Given the description of an element on the screen output the (x, y) to click on. 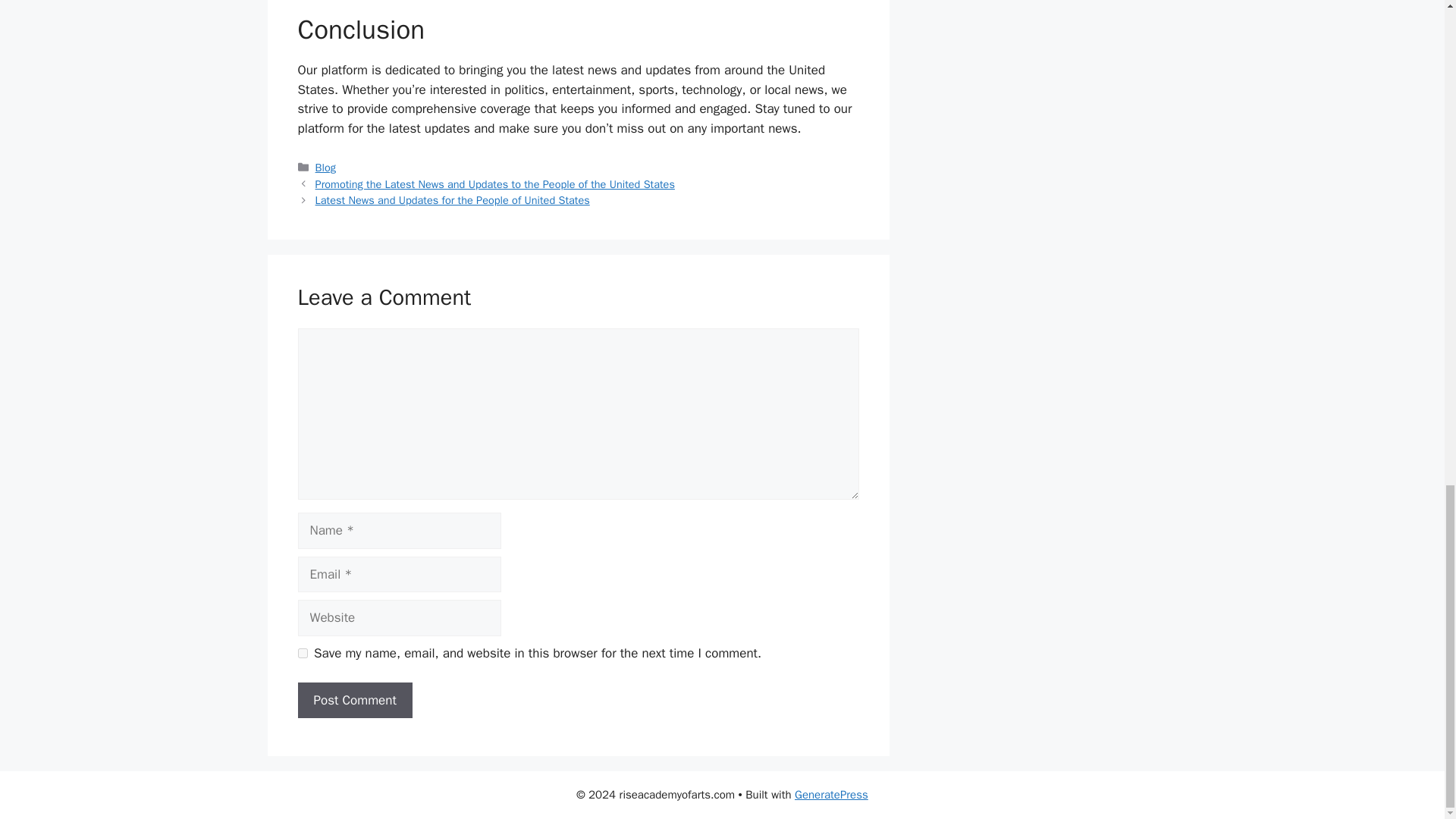
GeneratePress (830, 794)
Blog (325, 167)
Post Comment (354, 700)
Latest News and Updates for the People of United States (452, 200)
yes (302, 653)
Post Comment (354, 700)
